Given the description of an element on the screen output the (x, y) to click on. 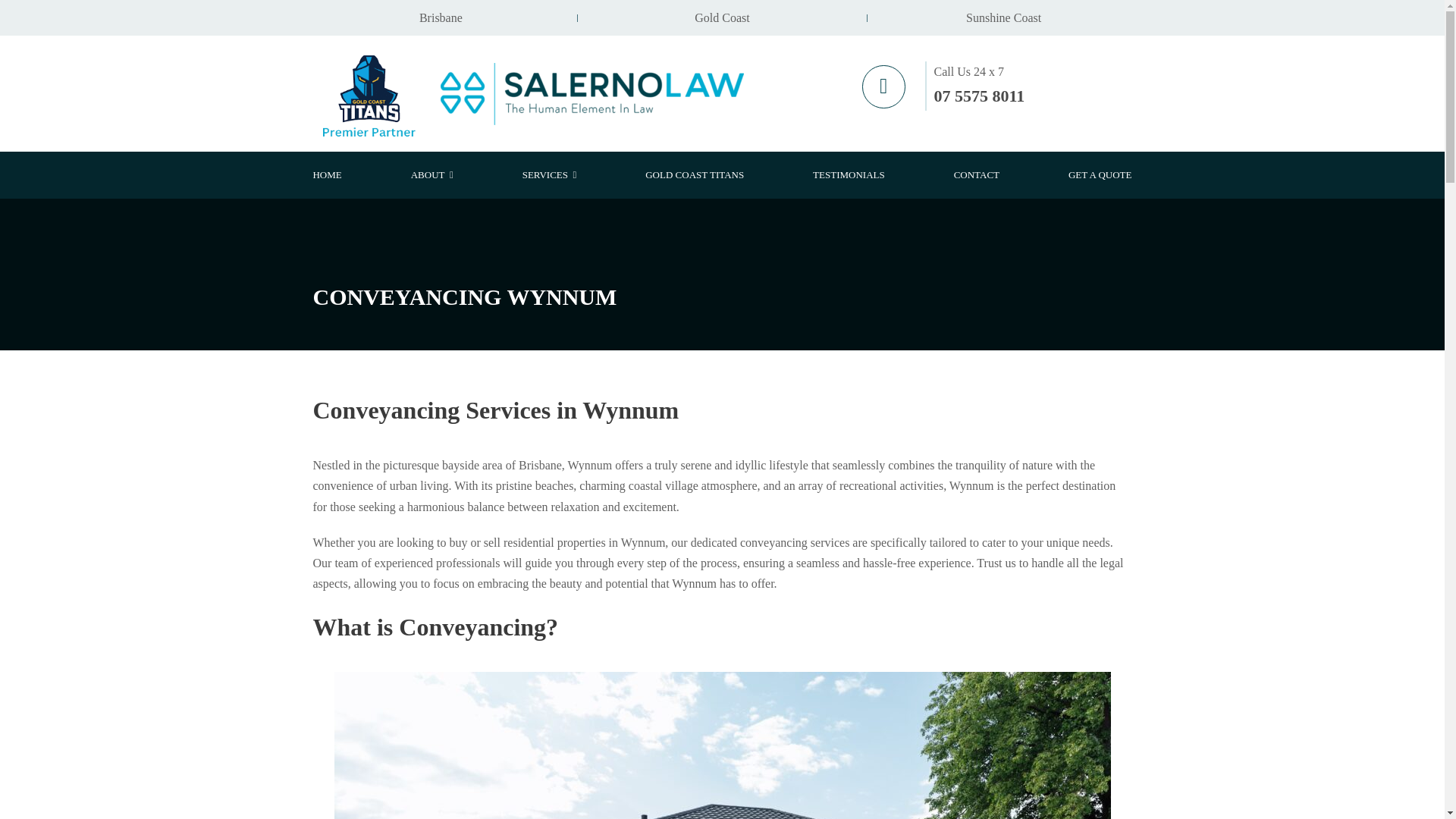
ABOUT (431, 174)
GET A QUOTE (1100, 174)
TESTIMONIALS (848, 174)
SERVICES (549, 174)
Home (592, 94)
CONTACT (975, 174)
07 5575 8011 (979, 95)
GOLD COAST TITANS (694, 174)
